Given the description of an element on the screen output the (x, y) to click on. 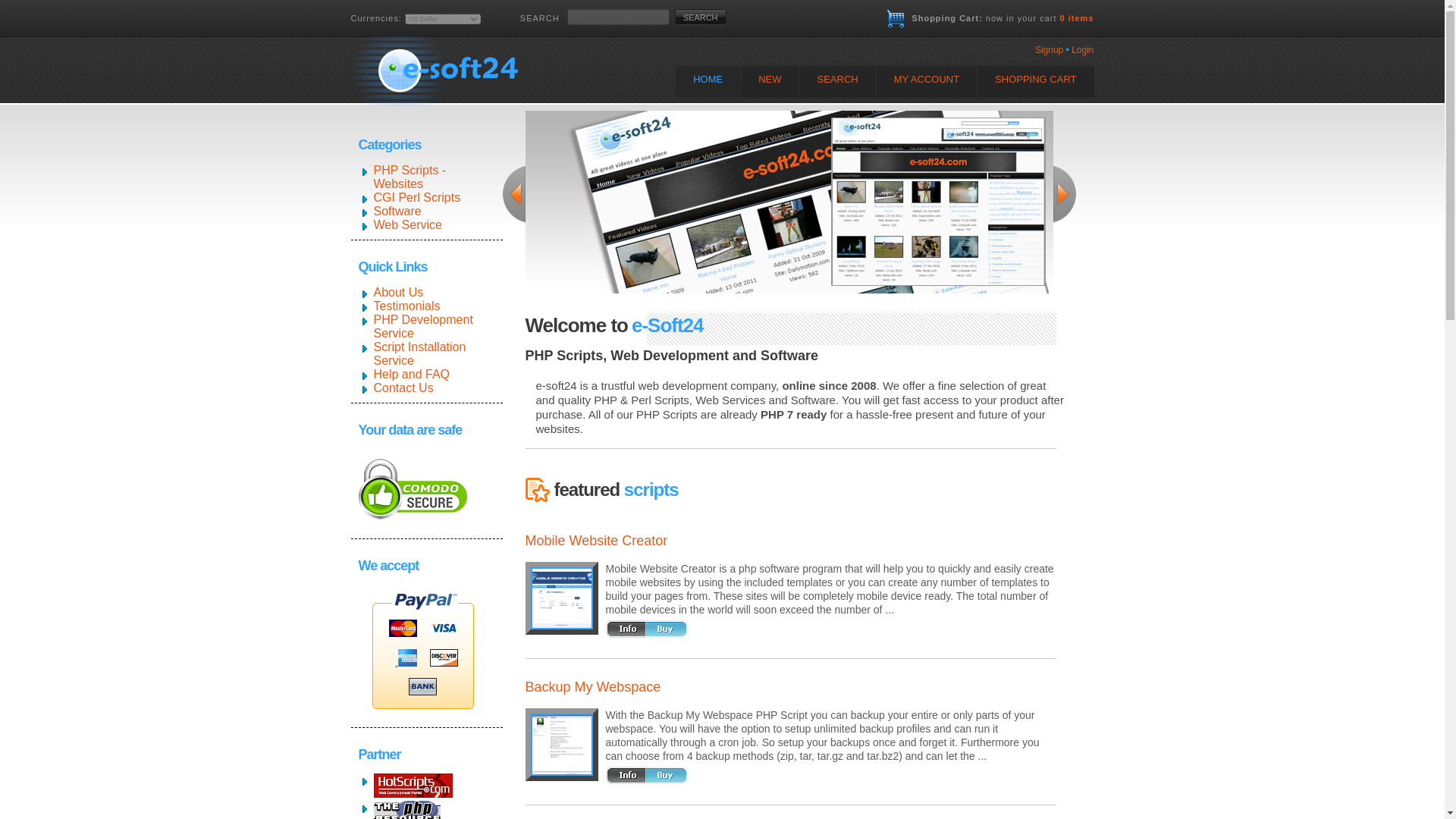
Previous (513, 193)
HOME (707, 81)
Backup My Webspace (561, 743)
SHOPPING CART (1034, 81)
SEARCH (700, 17)
MY ACCOUNT (926, 81)
Testimonials (405, 305)
Next (1063, 193)
Script Installation Service (418, 353)
CGI Perl Scripts (416, 196)
Contact Us (402, 387)
Software (396, 210)
Login (1082, 50)
SEARCH (700, 17)
PHP Development Service (421, 325)
